Given the description of an element on the screen output the (x, y) to click on. 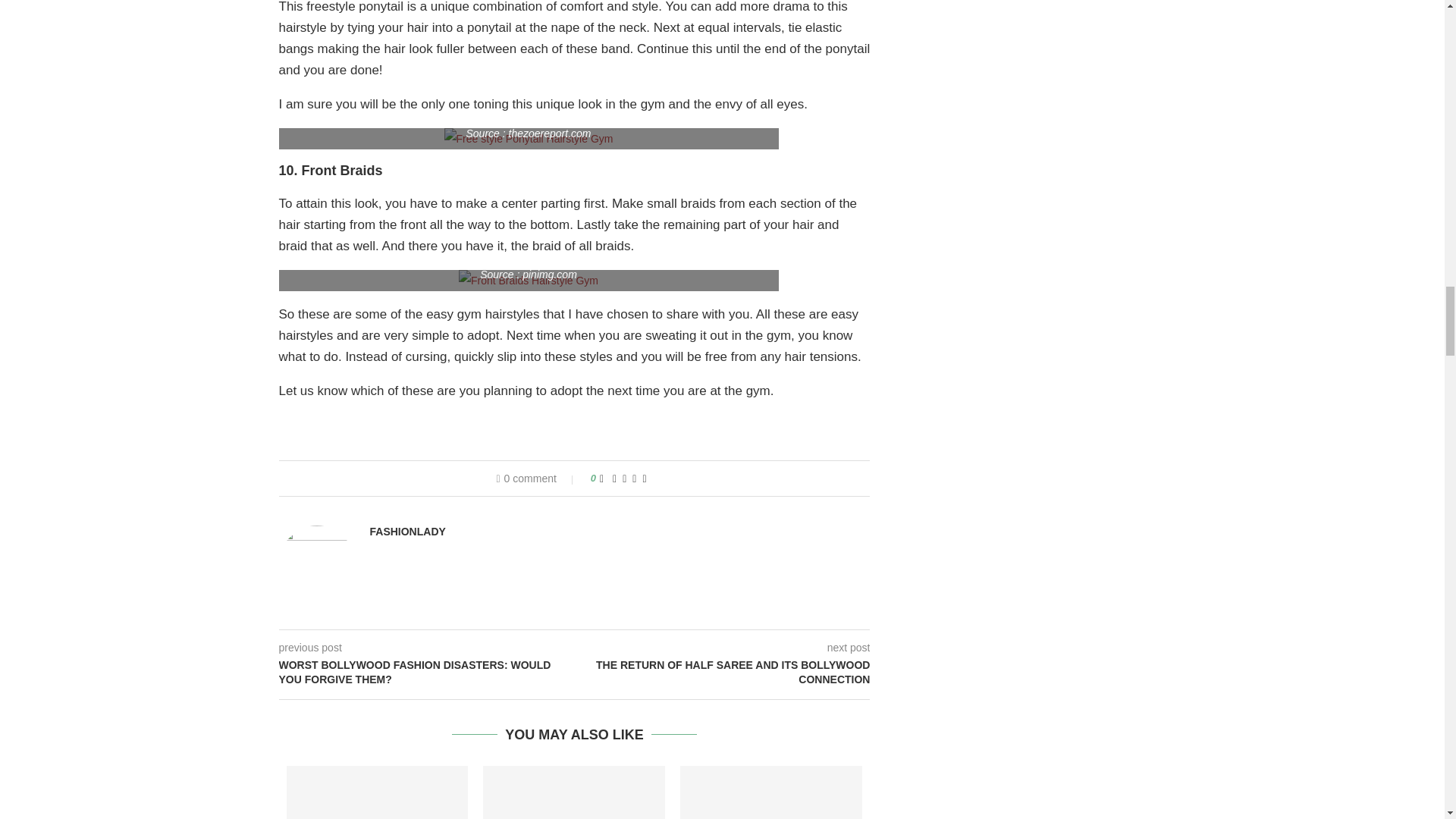
23 Biggest Summer Hairstyle Trends! (770, 792)
Author Fashionlady (407, 531)
